Given the description of an element on the screen output the (x, y) to click on. 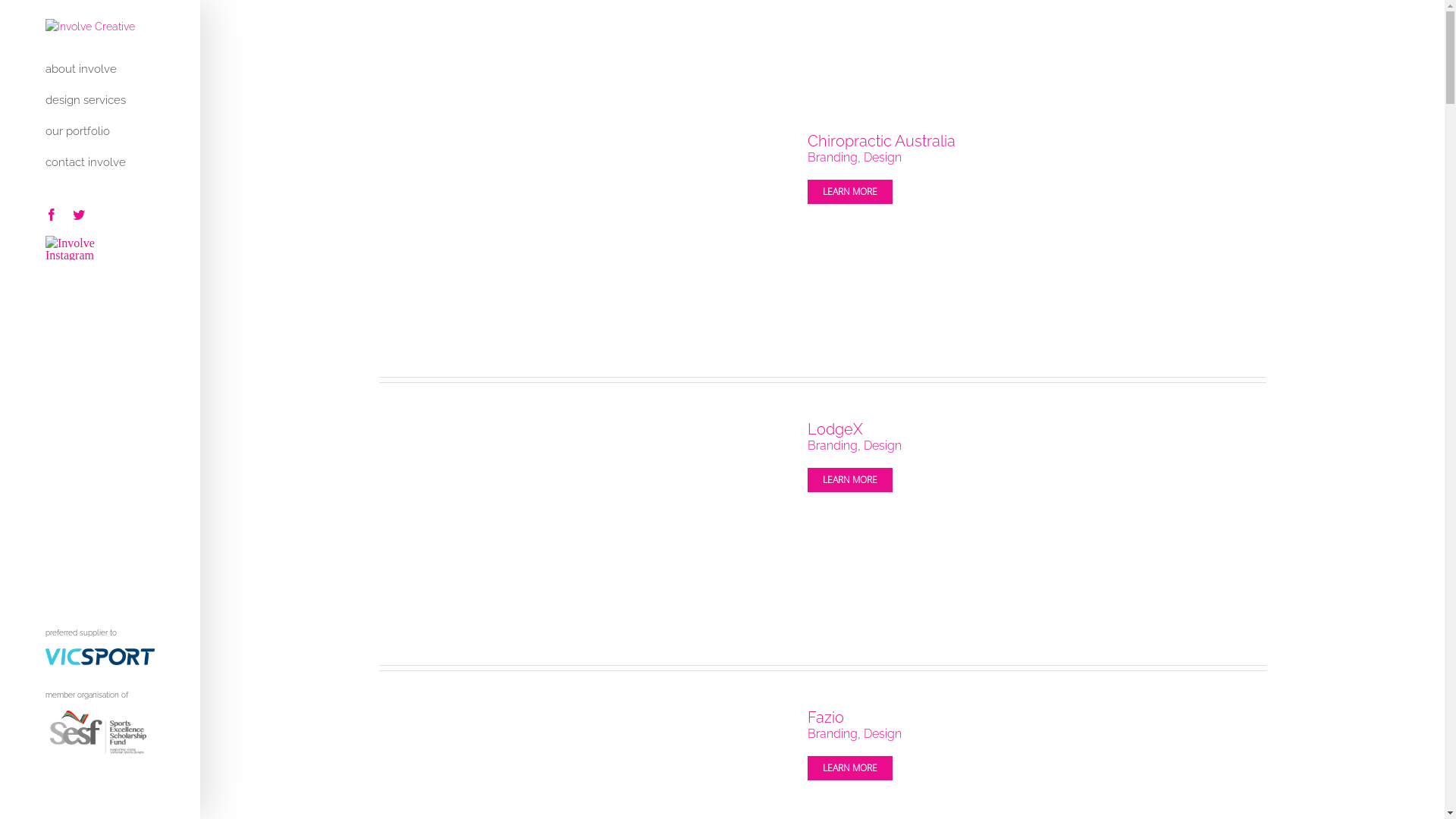
Email us here Element type: text (587, 788)
Facebook Element type: hover (51, 214)
Fazio Element type: text (825, 717)
Involve Instagram Element type: hover (1235, 795)
Design Element type: text (882, 445)
LEARN MORE Element type: text (849, 479)
Twitter Element type: hover (1207, 794)
Home Element type: text (1197, 44)
Branding Element type: text (832, 445)
LodgeX Element type: text (834, 429)
Design Element type: text (882, 157)
LEARN MORE Element type: text (849, 768)
Involve Instagram Element type: hover (92, 247)
LEARN MORE Element type: text (849, 191)
Design Element type: text (882, 733)
Twitter Element type: hover (78, 214)
Facebook Element type: hover (1179, 794)
Branding Element type: text (832, 733)
design services Element type: text (100, 100)
about involve Element type: text (100, 68)
contact involve Element type: text (100, 162)
our portfolio Element type: text (100, 131)
Chiropractic Australia Element type: text (881, 140)
Branding Element type: text (832, 157)
